Given the description of an element on the screen output the (x, y) to click on. 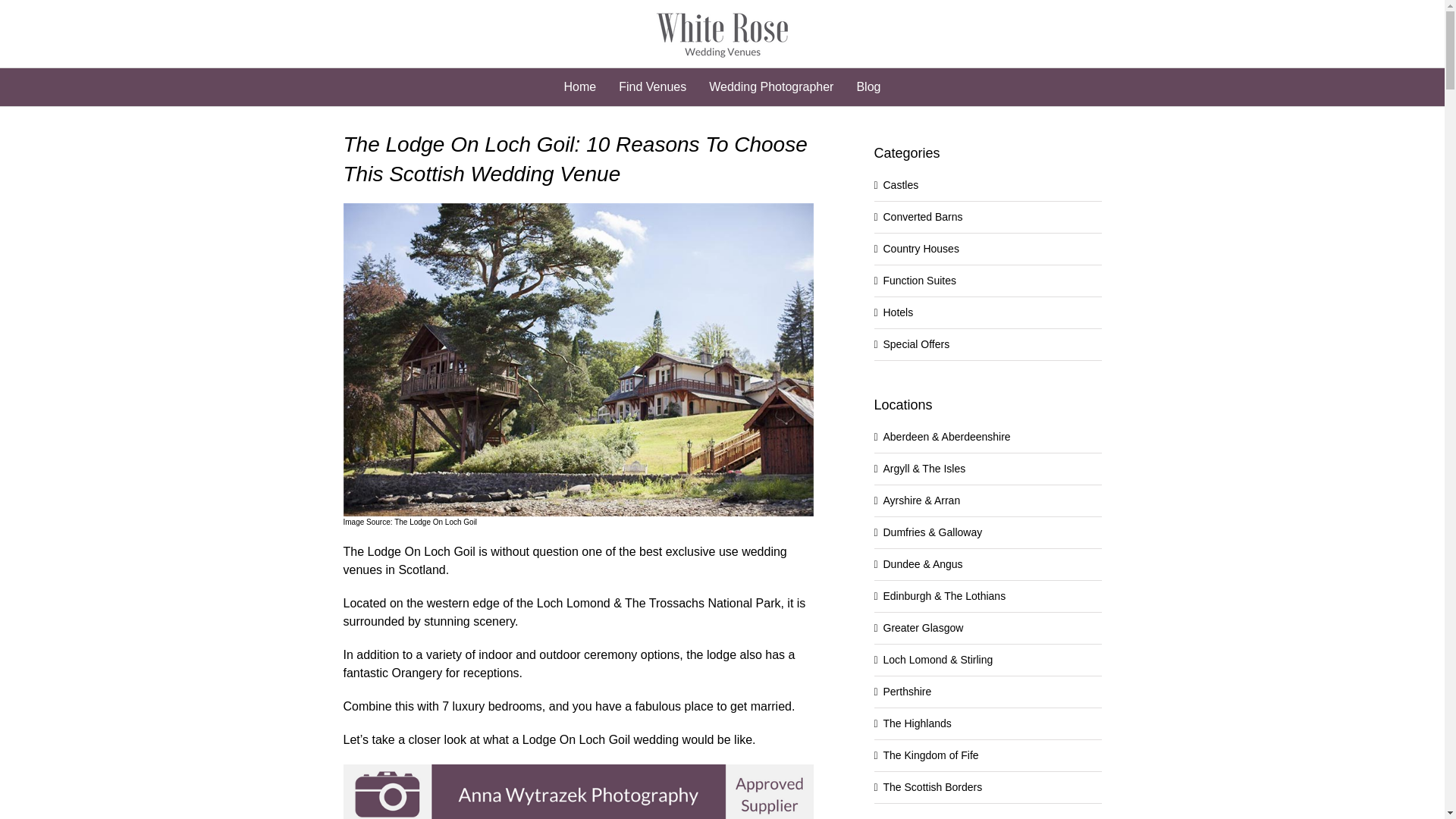
Country Houses (920, 248)
Perthshire (906, 691)
The Highlands (916, 723)
Wedding Photographer (770, 86)
Greater Glasgow (922, 627)
Blog (867, 86)
Special Offers (915, 344)
The Scottish Borders (931, 787)
The Kingdom of Fife (930, 755)
Function Suites (919, 280)
